Given the description of an element on the screen output the (x, y) to click on. 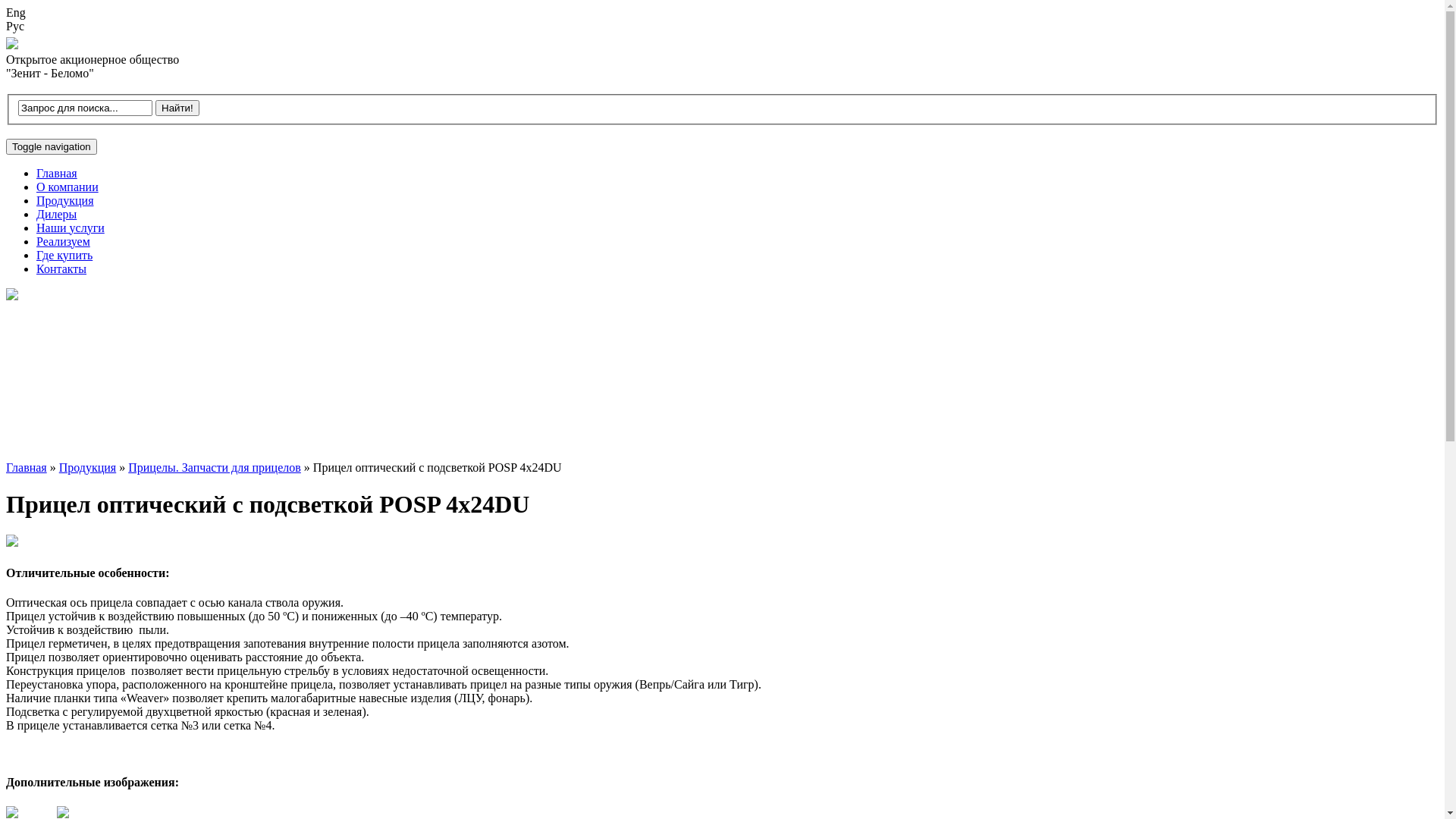
Toggle navigation Element type: text (51, 146)
Eng Element type: text (722, 12)
